Given the description of an element on the screen output the (x, y) to click on. 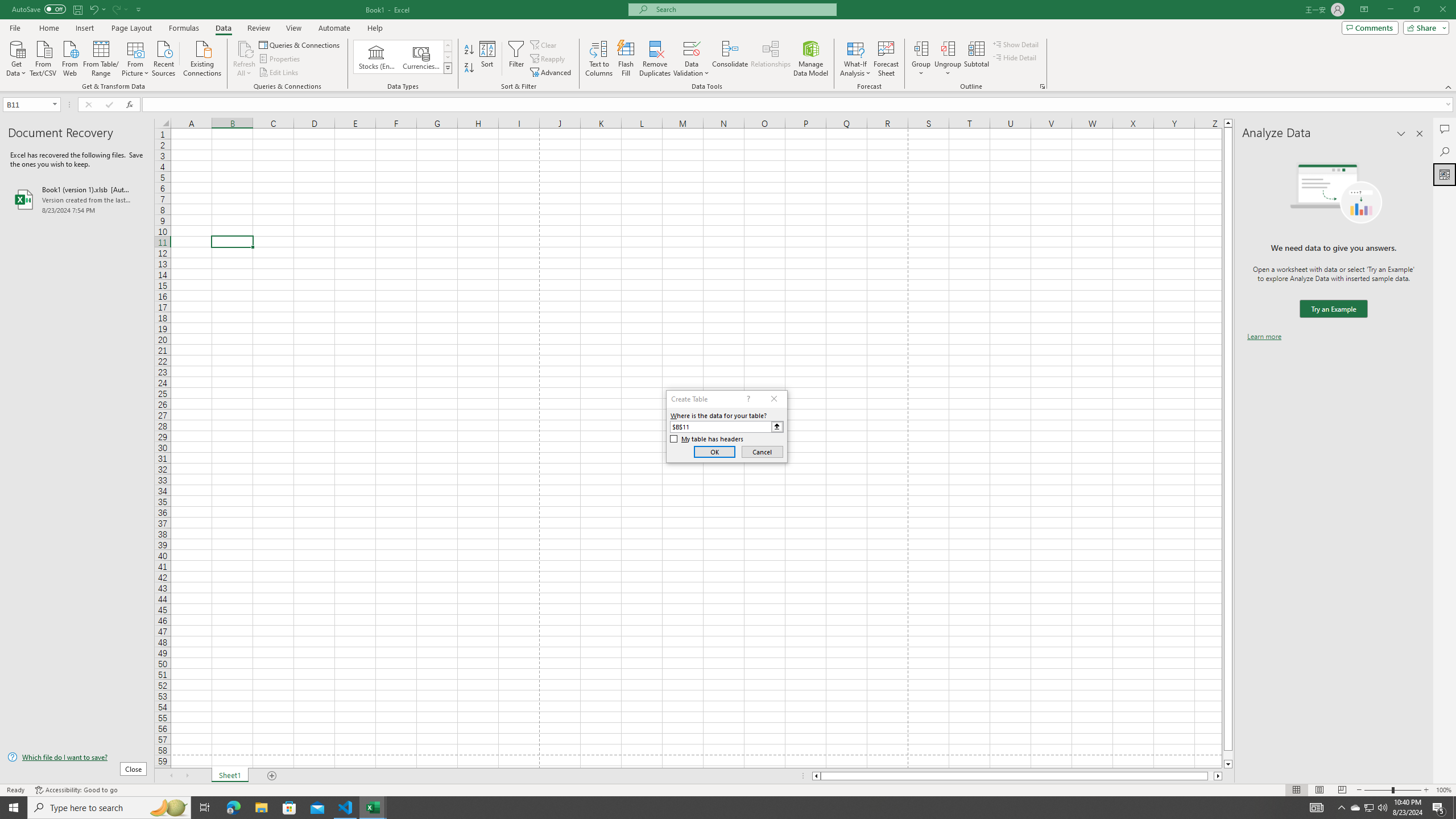
Consolidate... (729, 58)
